Given the description of an element on the screen output the (x, y) to click on. 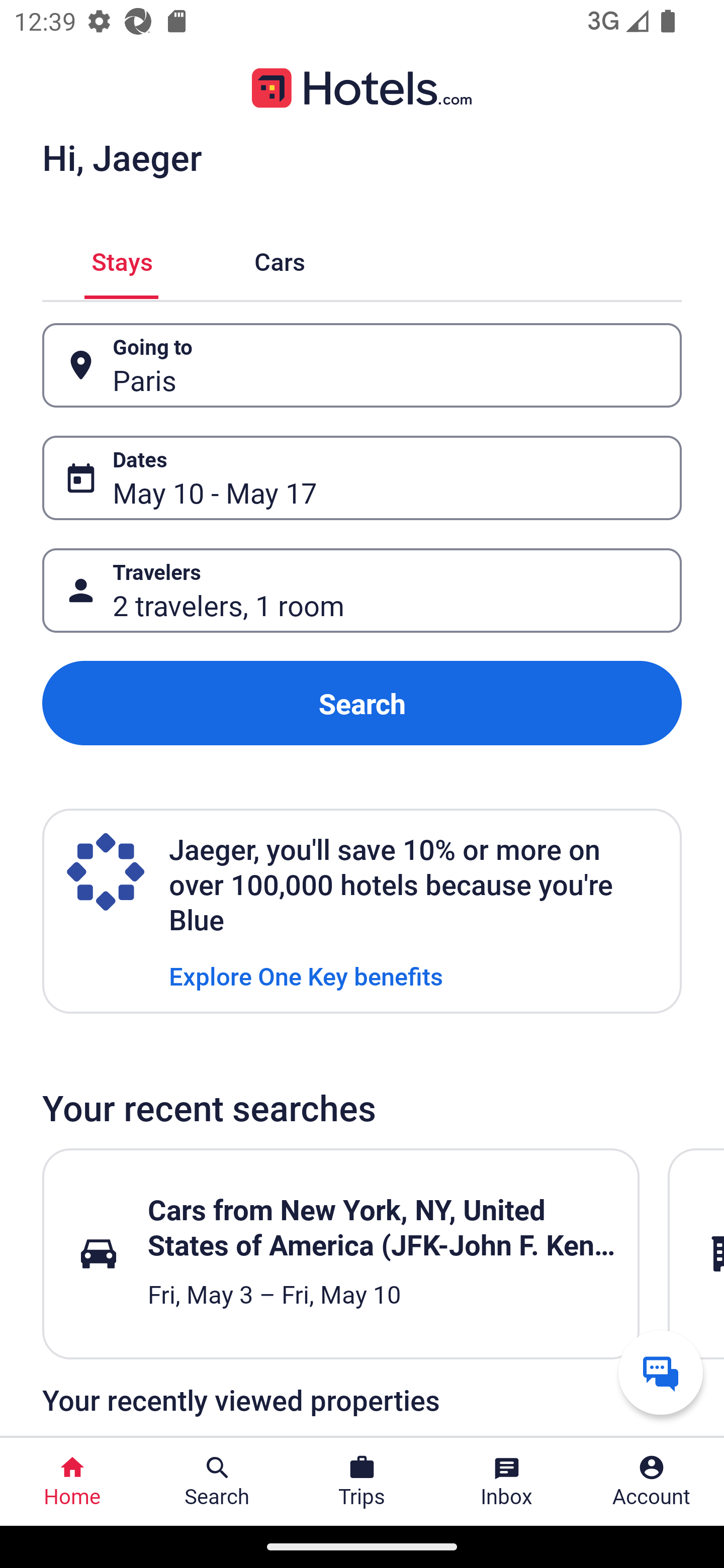
Hi, Jaeger (121, 156)
Cars (279, 259)
Going to Button Paris (361, 365)
Dates Button May 10 - May 17 (361, 477)
Travelers Button 2 travelers, 1 room (361, 590)
Search (361, 702)
Get help from a virtual agent (660, 1371)
Search Search Button (216, 1481)
Trips Trips Button (361, 1481)
Inbox Inbox Button (506, 1481)
Account Profile. Button (651, 1481)
